Given the description of an element on the screen output the (x, y) to click on. 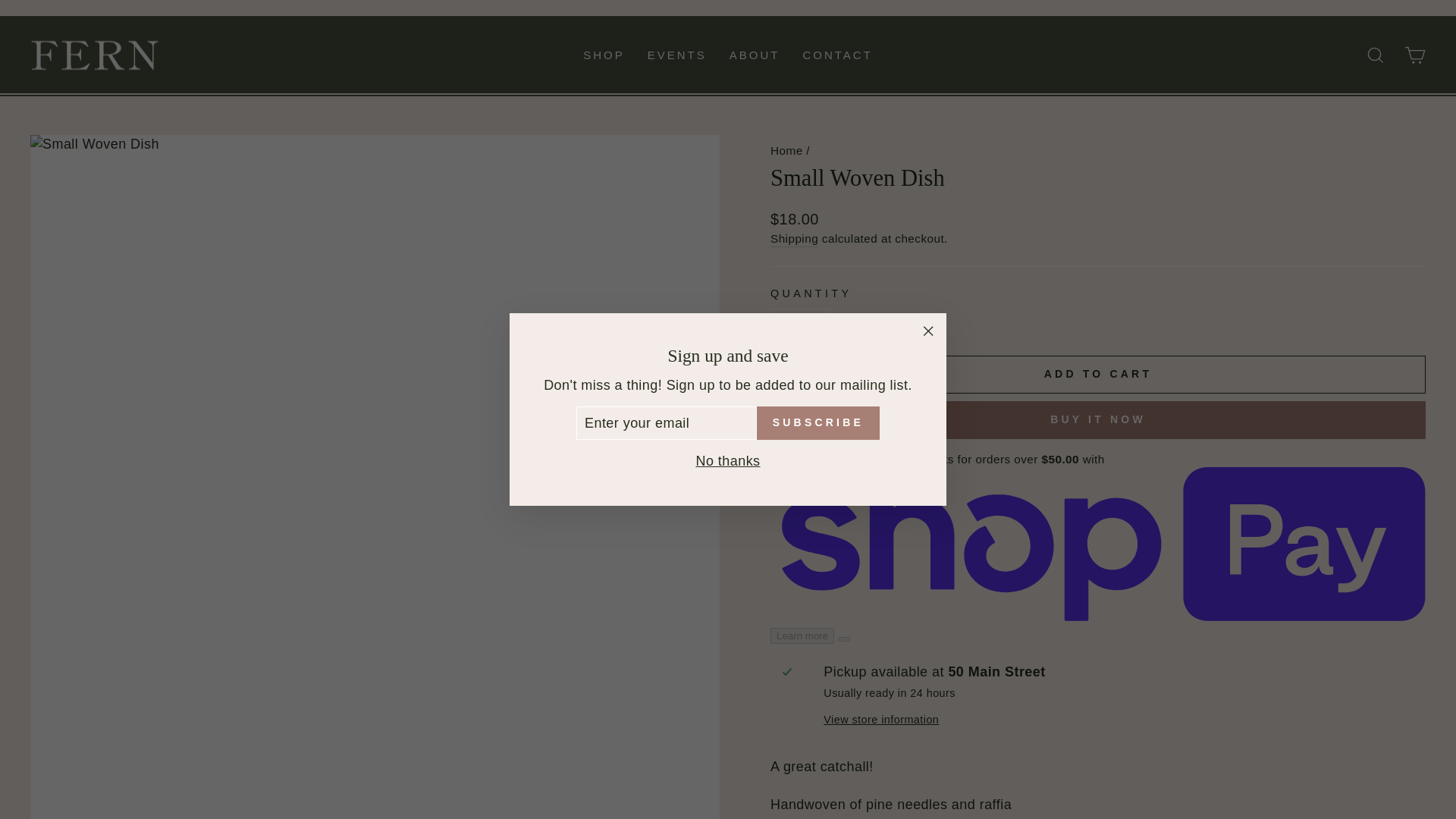
Back to the frontpage (786, 150)
1 (800, 322)
